Given the description of an element on the screen output the (x, y) to click on. 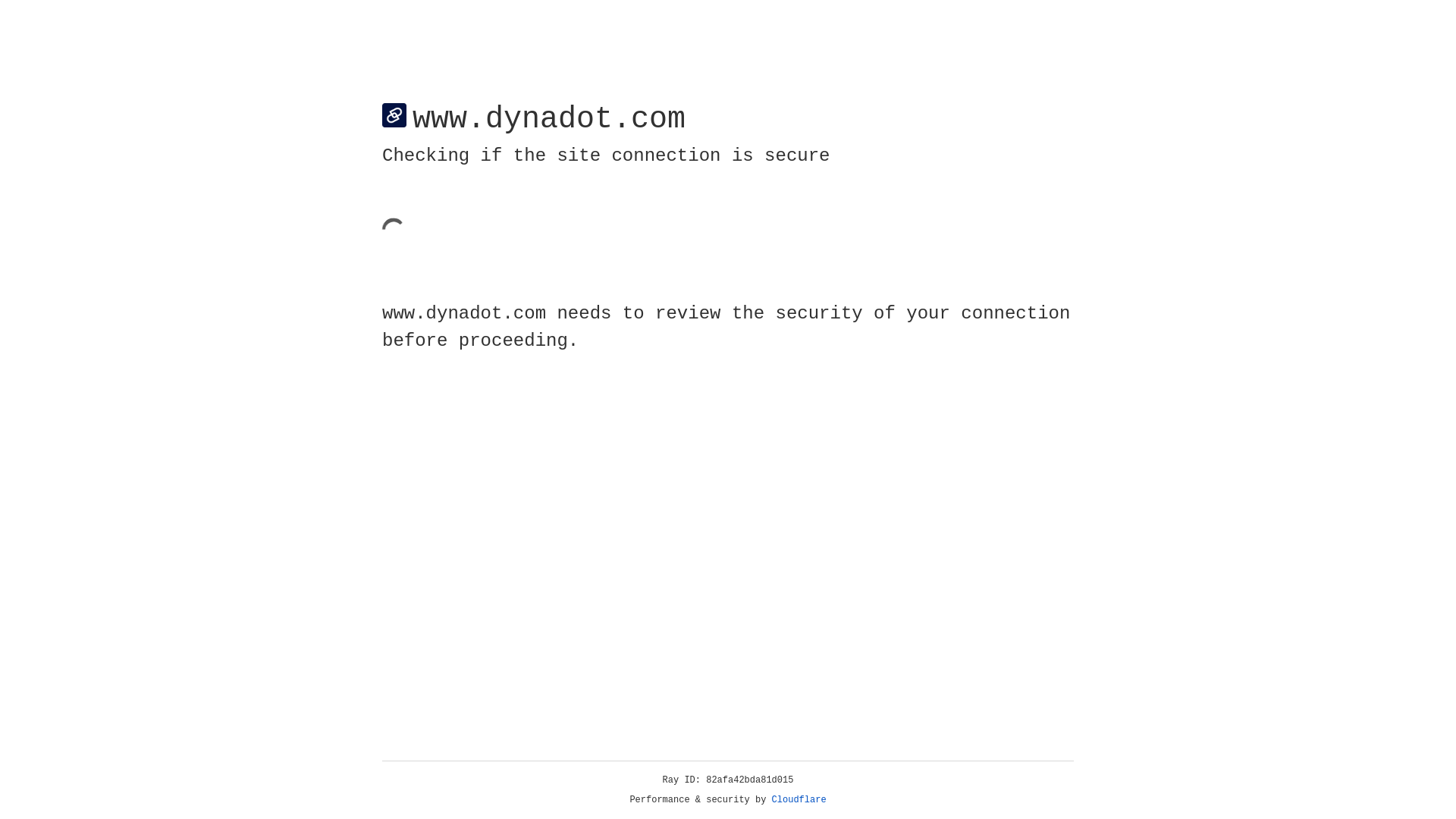
Cloudflare Element type: text (798, 799)
